Given the description of an element on the screen output the (x, y) to click on. 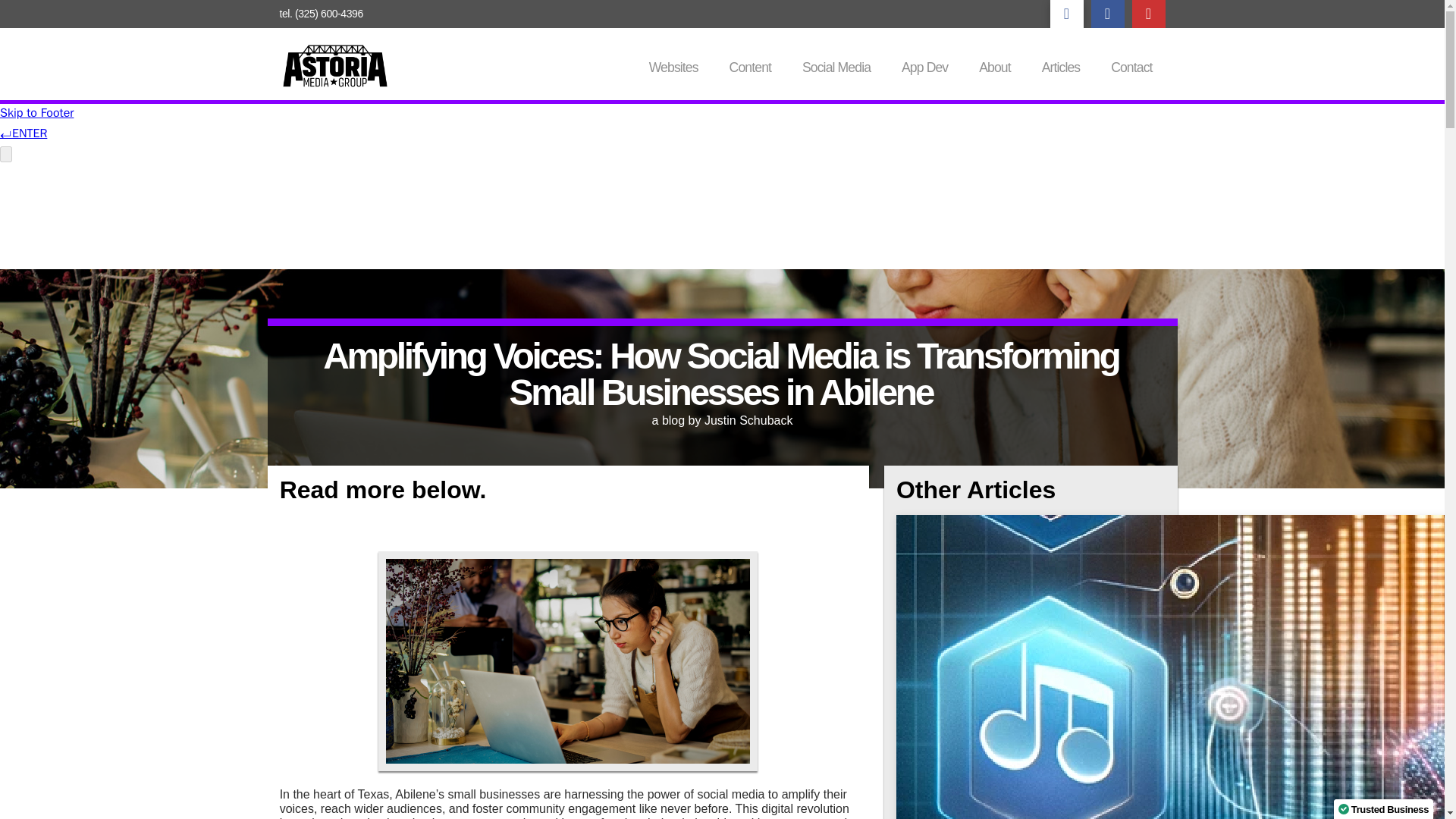
About (994, 65)
App Dev (924, 65)
Articles (1061, 65)
Content (750, 65)
Social Media (836, 65)
Websites (674, 65)
Contact (1131, 65)
